Given the description of an element on the screen output the (x, y) to click on. 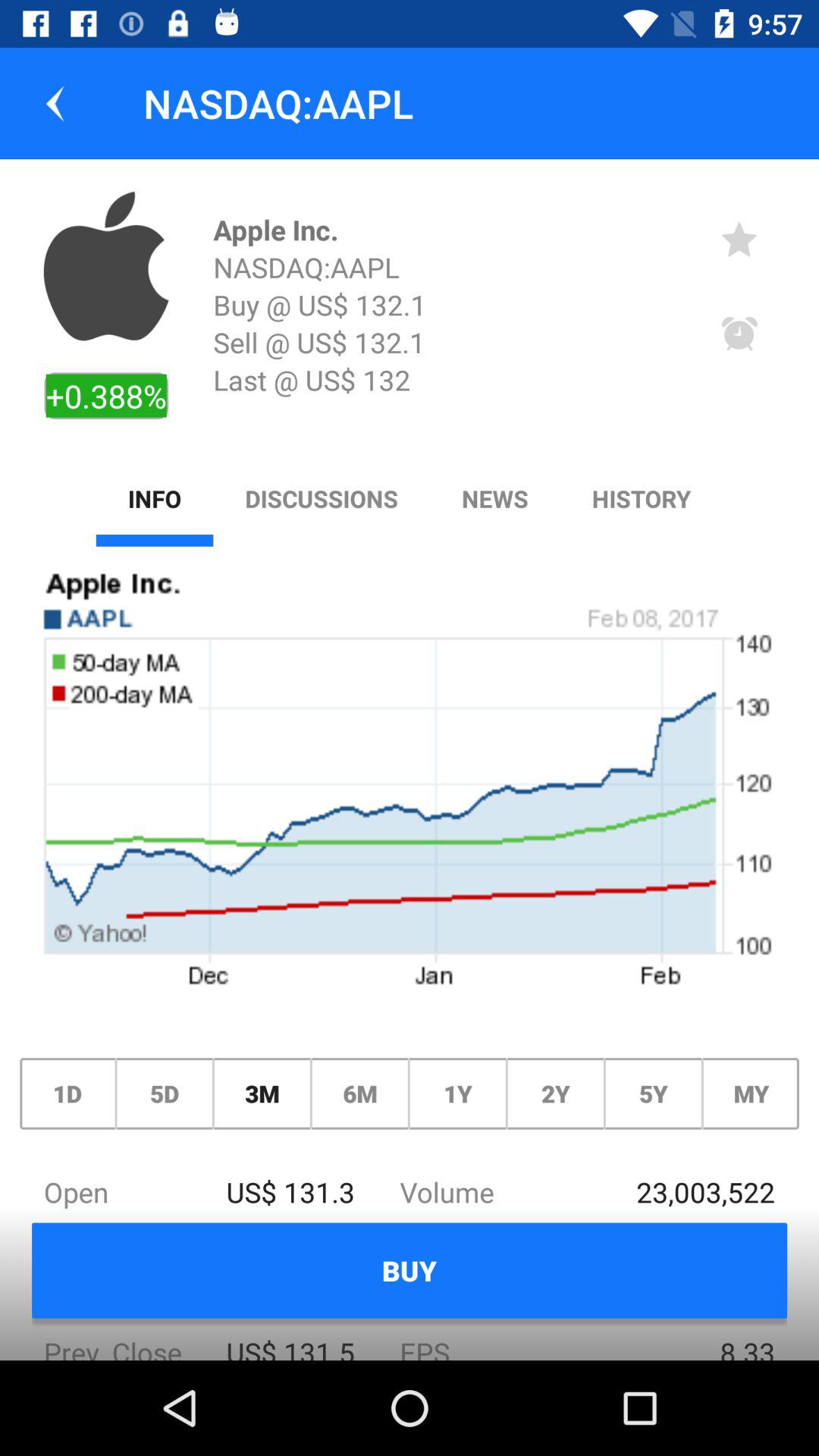
click item above open icon (261, 1093)
